Given the description of an element on the screen output the (x, y) to click on. 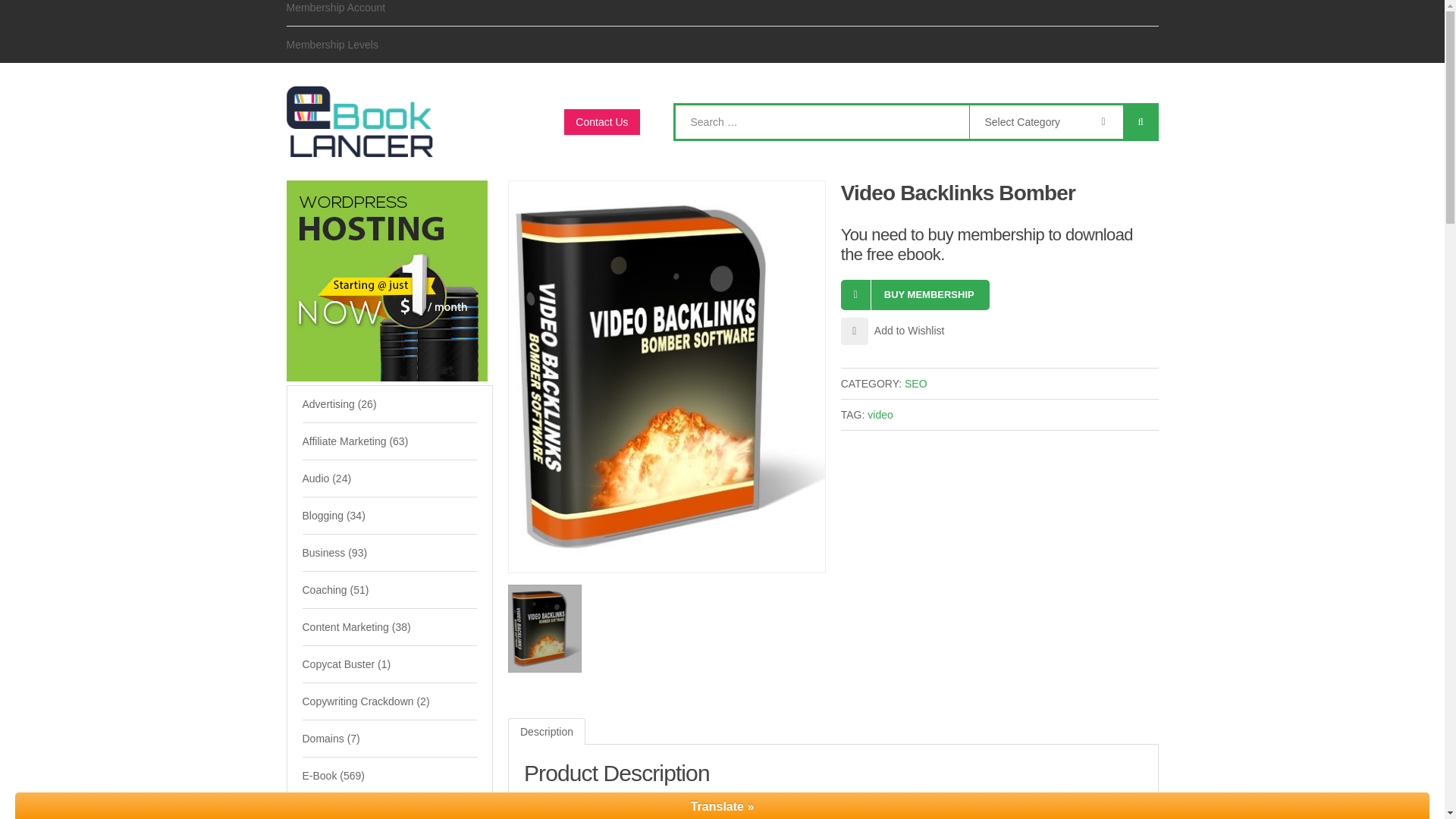
video (879, 414)
Contact Us (601, 121)
SEO (915, 383)
Membership Account (335, 12)
Add to Wishlist (892, 330)
Membership Levels (332, 44)
BUY MEMBERSHIP (915, 295)
Description (546, 731)
